Given the description of an element on the screen output the (x, y) to click on. 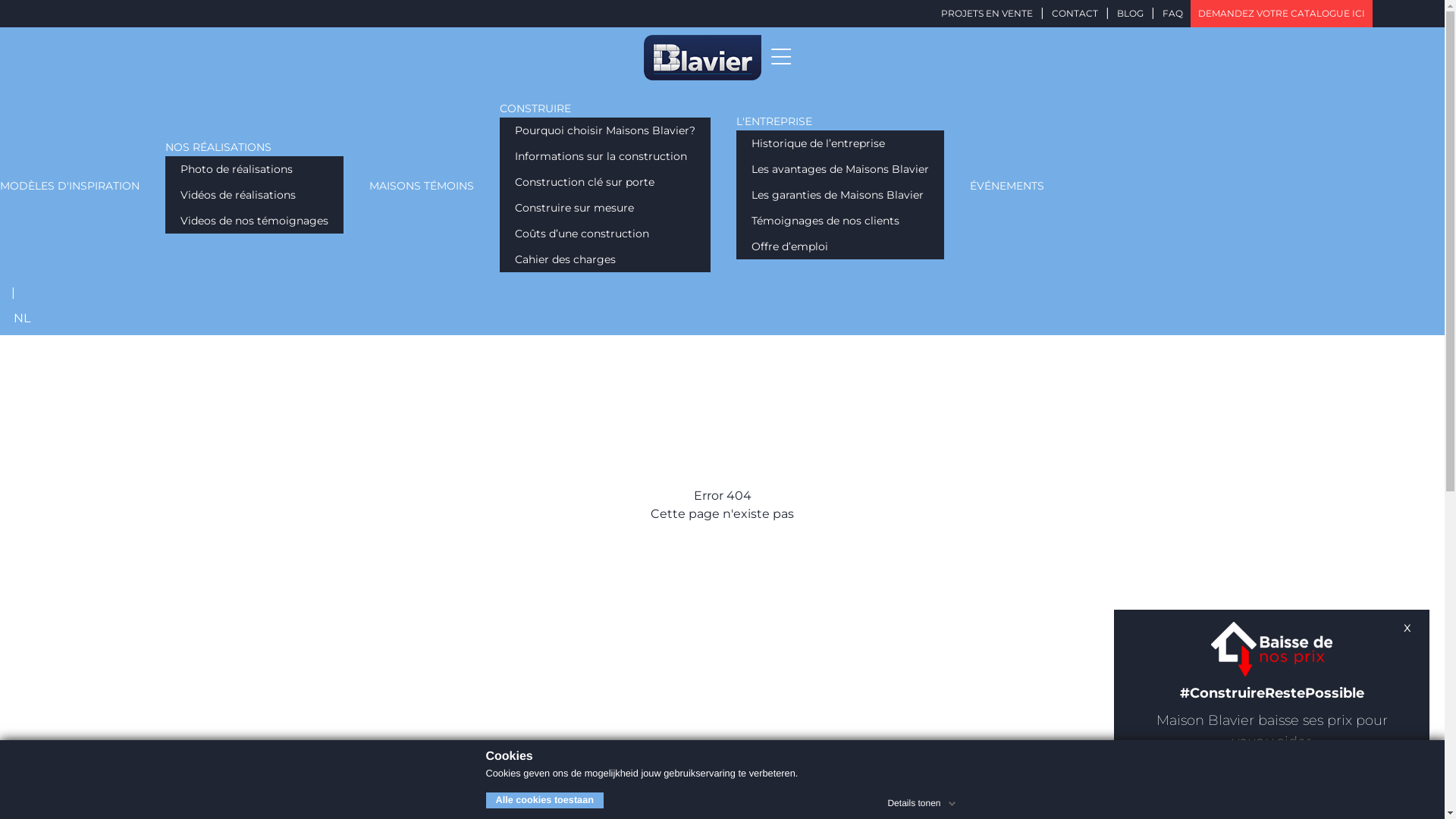
CONSTRUIRE Element type: text (535, 108)
Les garanties de Maisons Blavier Element type: text (837, 194)
Cahier des charges Element type: text (565, 259)
DEMANDEZ VOTRE CATALOGUE ICI Element type: text (1281, 12)
L'ENTREPRISE Element type: text (774, 121)
Informations sur la construction Element type: text (600, 156)
Alle cookies toestaan Element type: text (543, 800)
CONTACT Element type: text (1074, 12)
NL Element type: text (21, 318)
FAQ Element type: text (1172, 12)
Les avantages de Maisons Blavier Element type: text (839, 168)
PROJETS EN VENTE Element type: text (986, 12)
Pourquoi choisir Maisons Blavier? Element type: text (604, 130)
Details tonen Element type: text (922, 800)
BLOG Element type: text (1130, 12)
Construire sur mesure Element type: text (574, 207)
